Given the description of an element on the screen output the (x, y) to click on. 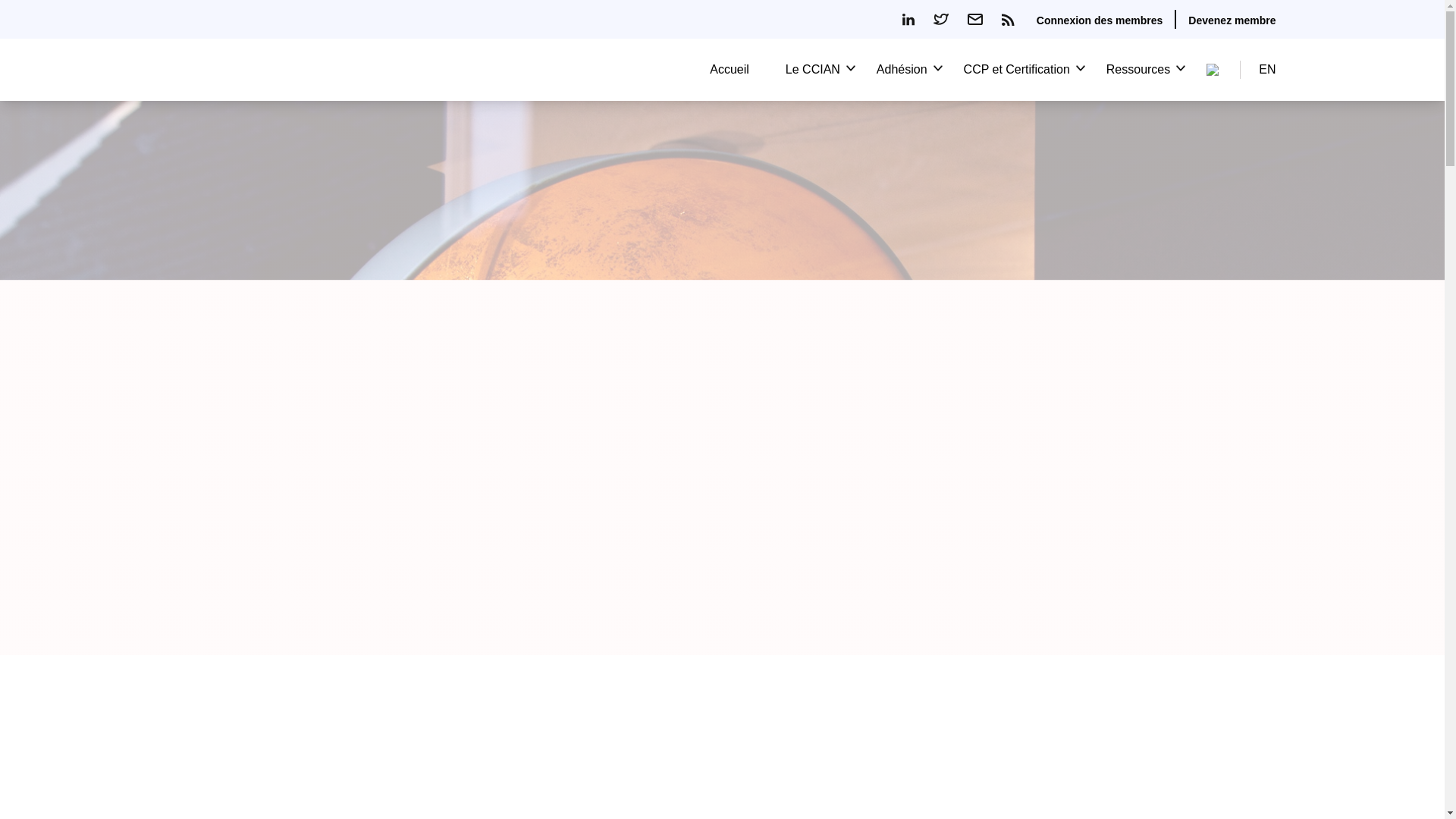
Connexion des membres (1099, 20)
CCP et Certification (1016, 69)
Devenez membre (1231, 20)
Accueil (729, 69)
Ressources (1138, 69)
Le CCIAN (813, 69)
